Given the description of an element on the screen output the (x, y) to click on. 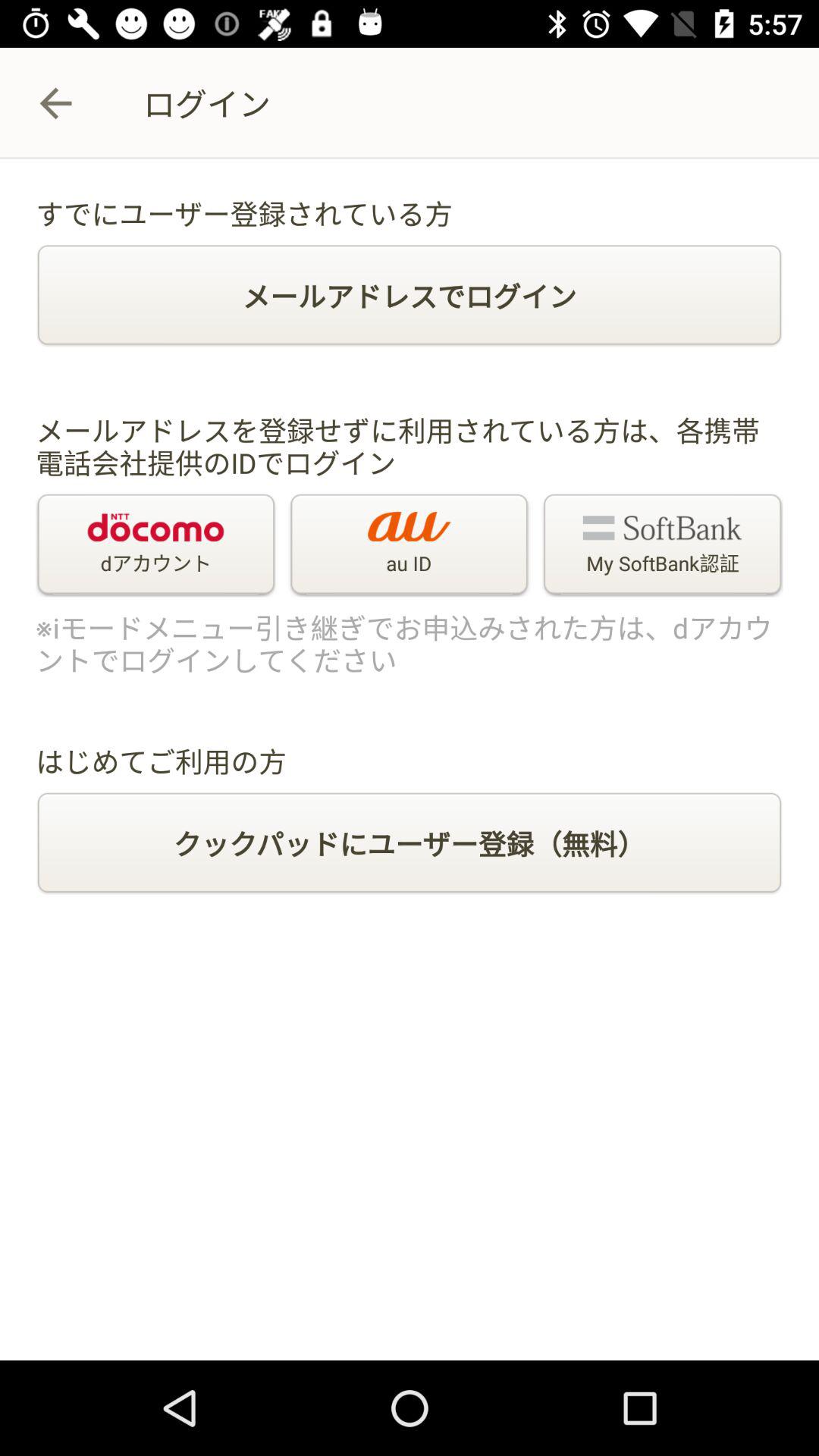
launch the icon to the right of the au id icon (662, 545)
